Given the description of an element on the screen output the (x, y) to click on. 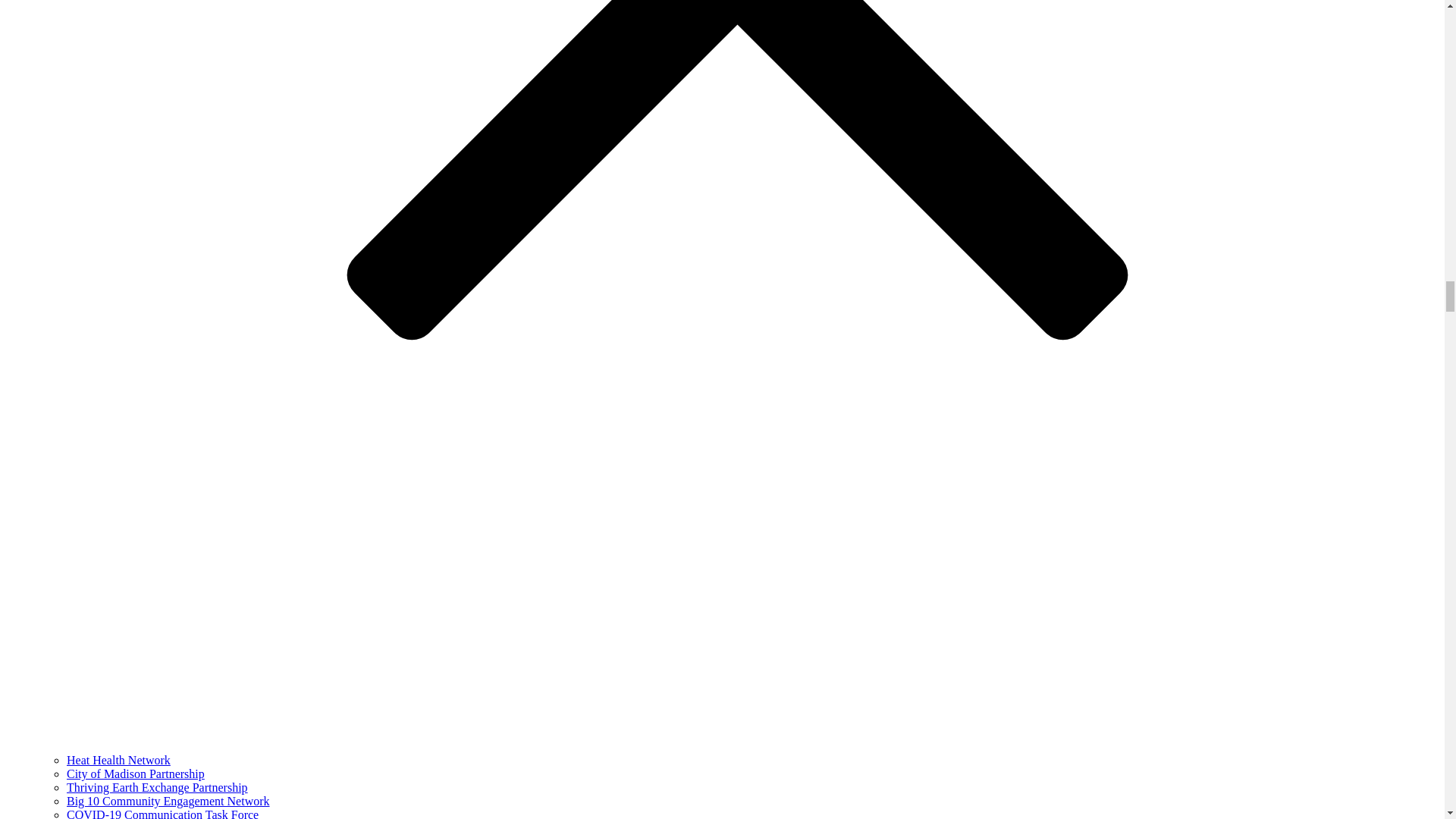
Big 10 Community Engagement Network (167, 800)
Heat Health Network (118, 759)
COVID-19 Communication Task Force (162, 813)
Thriving Earth Exchange Partnership (156, 787)
City of Madison Partnership (135, 773)
